Given the description of an element on the screen output the (x, y) to click on. 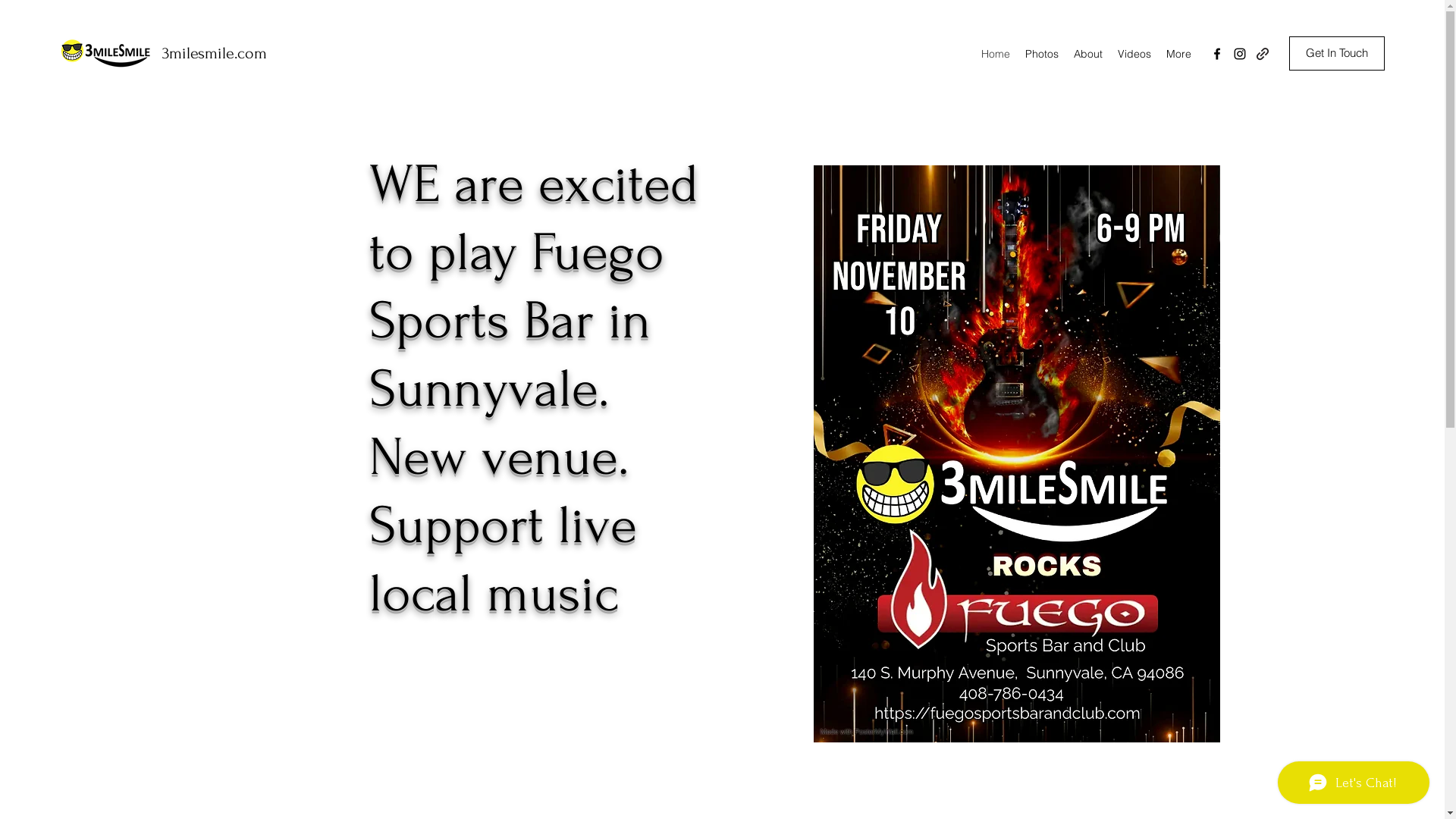
Home Element type: text (995, 53)
Videos Element type: text (1134, 53)
Photos Element type: text (1041, 53)
Fuego Sunnyvale 11_10_23.jpg Element type: hover (1015, 453)
Get In Touch Element type: text (1336, 53)
3milesmile.com Element type: text (214, 52)
About Element type: text (1088, 53)
